Given the description of an element on the screen output the (x, y) to click on. 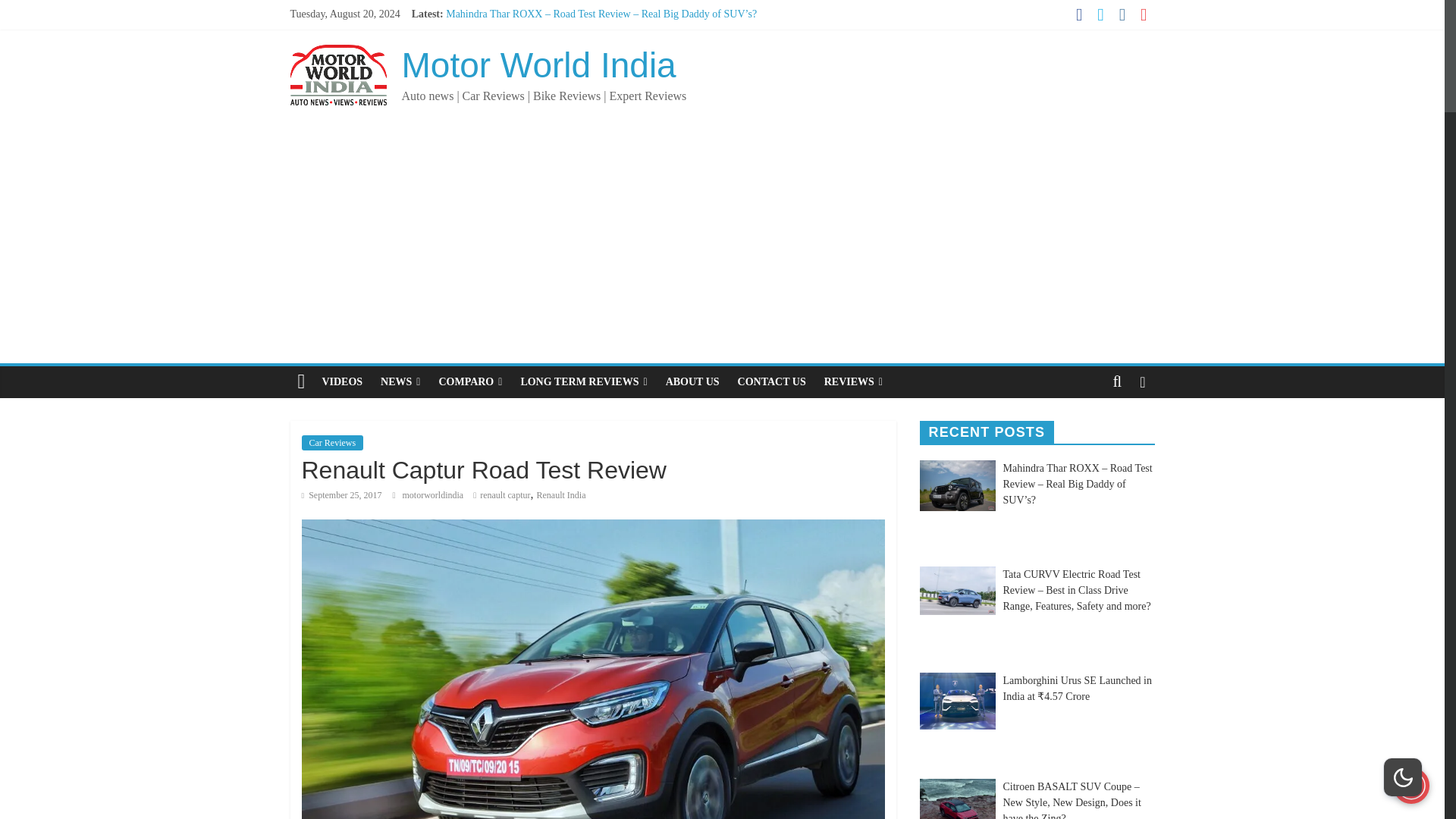
motorworldindia (434, 494)
COMPARO (470, 382)
Motor World India (539, 65)
motorworldindia (434, 494)
REVIEWS (853, 382)
Car Reviews (332, 442)
Renault India (561, 494)
September 25, 2017 (341, 494)
CONTACT US (772, 382)
